Given the description of an element on the screen output the (x, y) to click on. 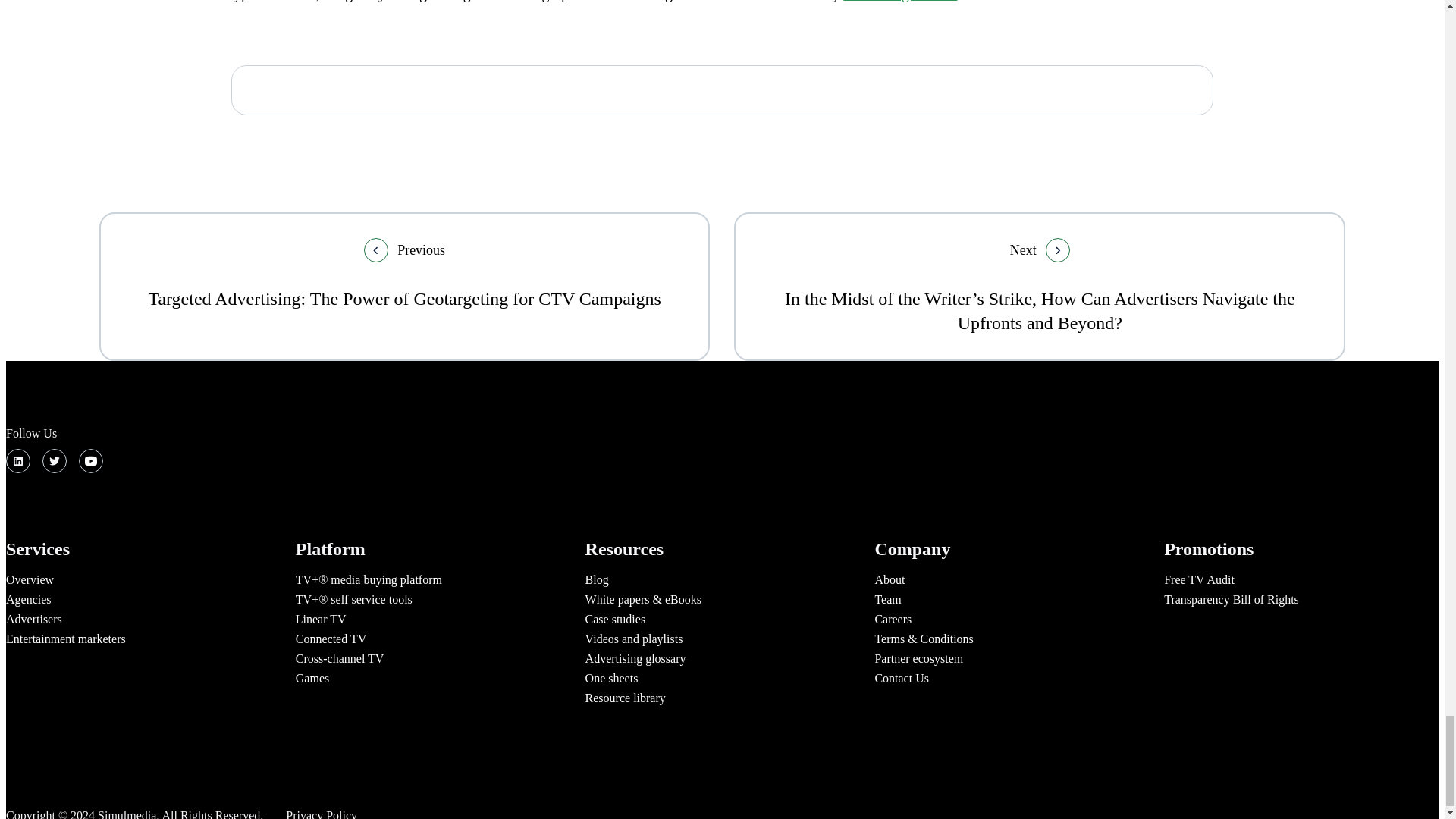
Videos and playlists (633, 638)
scheduling a demo (899, 0)
Advertisers (33, 618)
Agencies (27, 599)
Games (312, 677)
Connected TV (330, 638)
About (889, 579)
Find Simulmedia on Twitter (54, 460)
Entertainment marketers (65, 638)
Overview (29, 579)
